Given the description of an element on the screen output the (x, y) to click on. 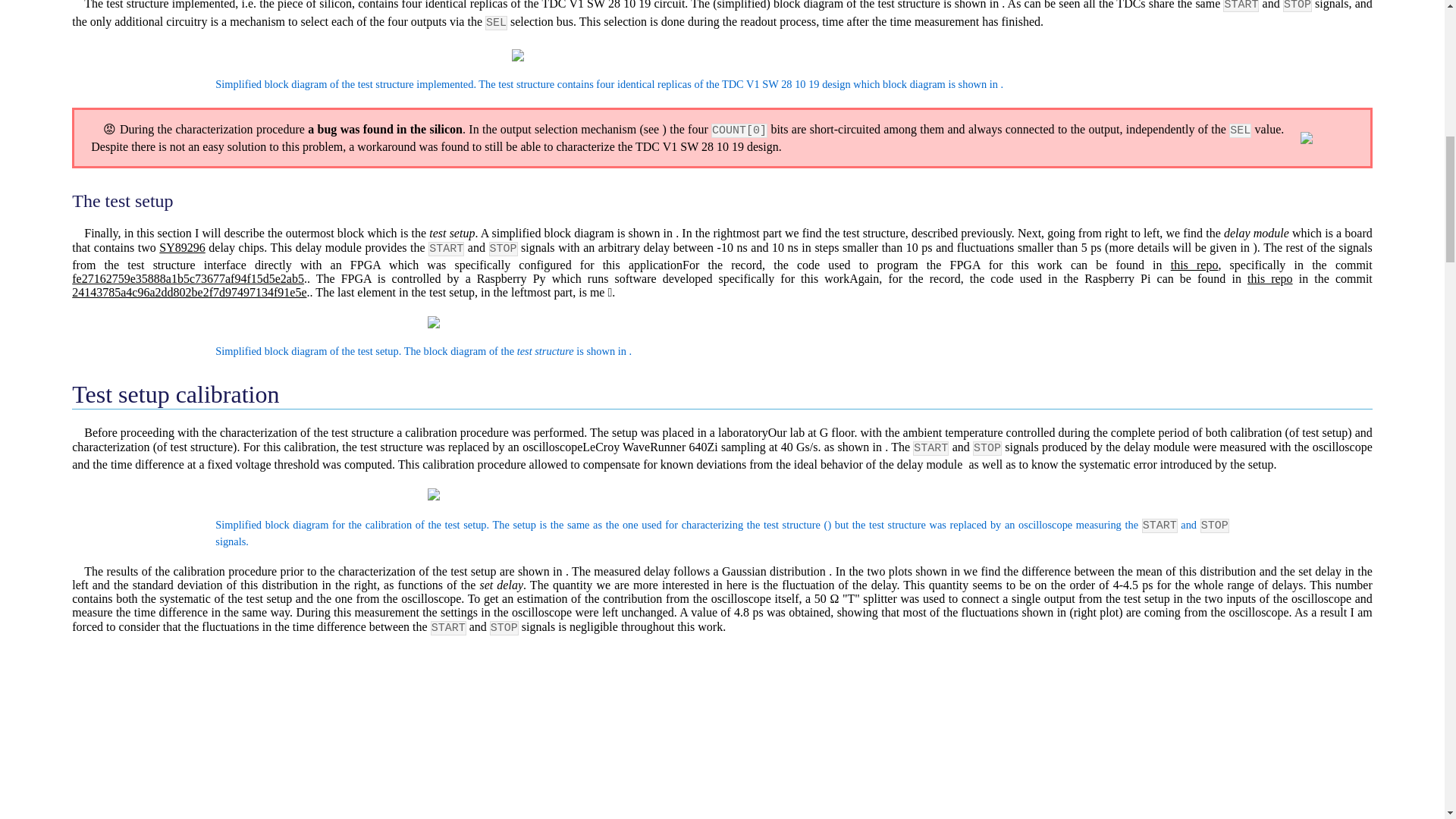
SY89296 (181, 246)
24143785a4c96a2dd802be2f7d97497134f91e5e (188, 291)
fe27162759e35888a1b5c73677af94f15d5e2ab5 (187, 278)
this repo (1194, 264)
this repo (1269, 278)
